Given the description of an element on the screen output the (x, y) to click on. 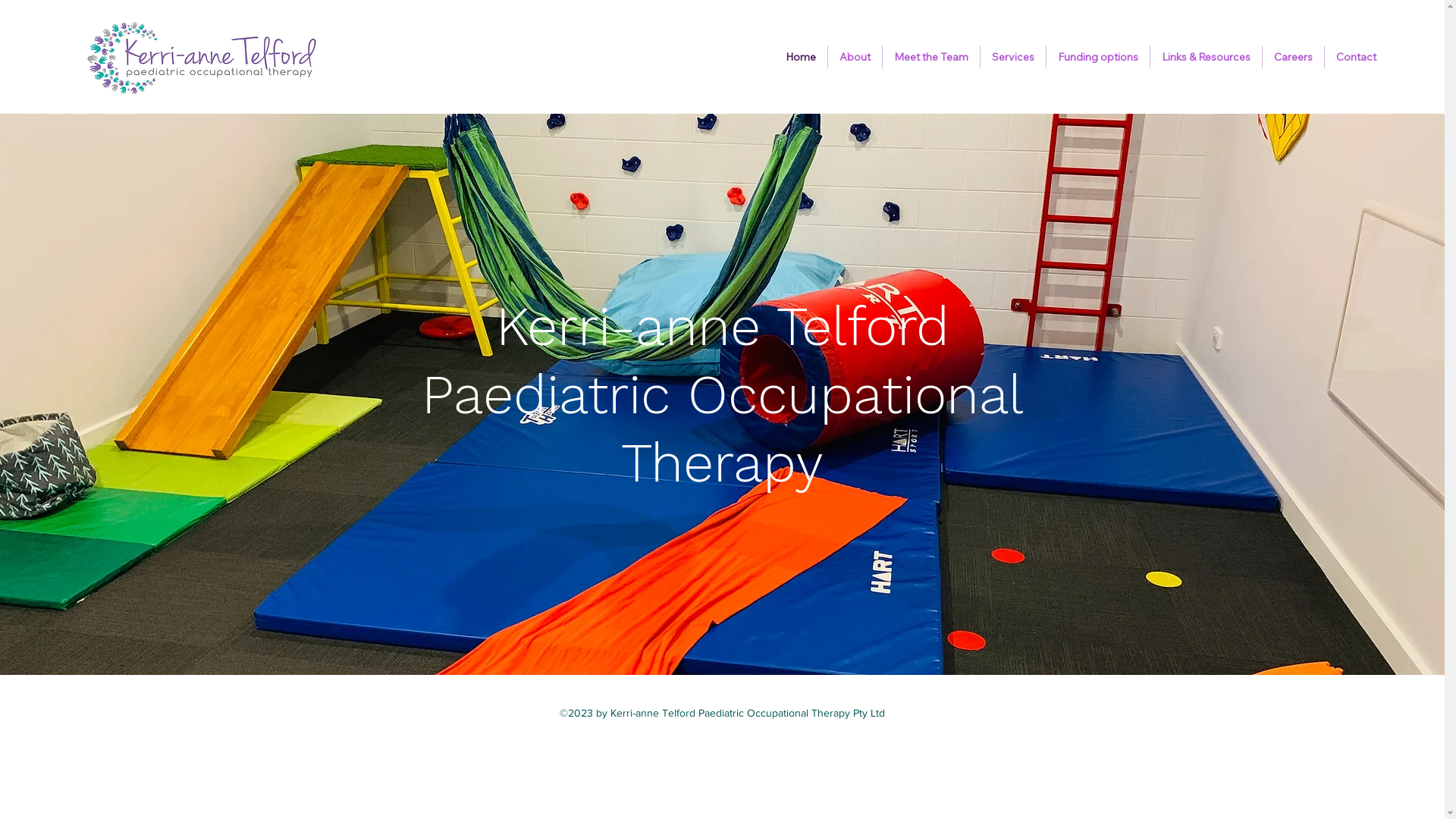
Meet the Team Element type: text (930, 56)
Funding options Element type: text (1097, 56)
About Element type: text (854, 56)
Contact Element type: text (1355, 56)
Links & Resources Element type: text (1205, 56)
Careers Element type: text (1293, 56)
Home Element type: text (800, 56)
Services Element type: text (1012, 56)
